Given the description of an element on the screen output the (x, y) to click on. 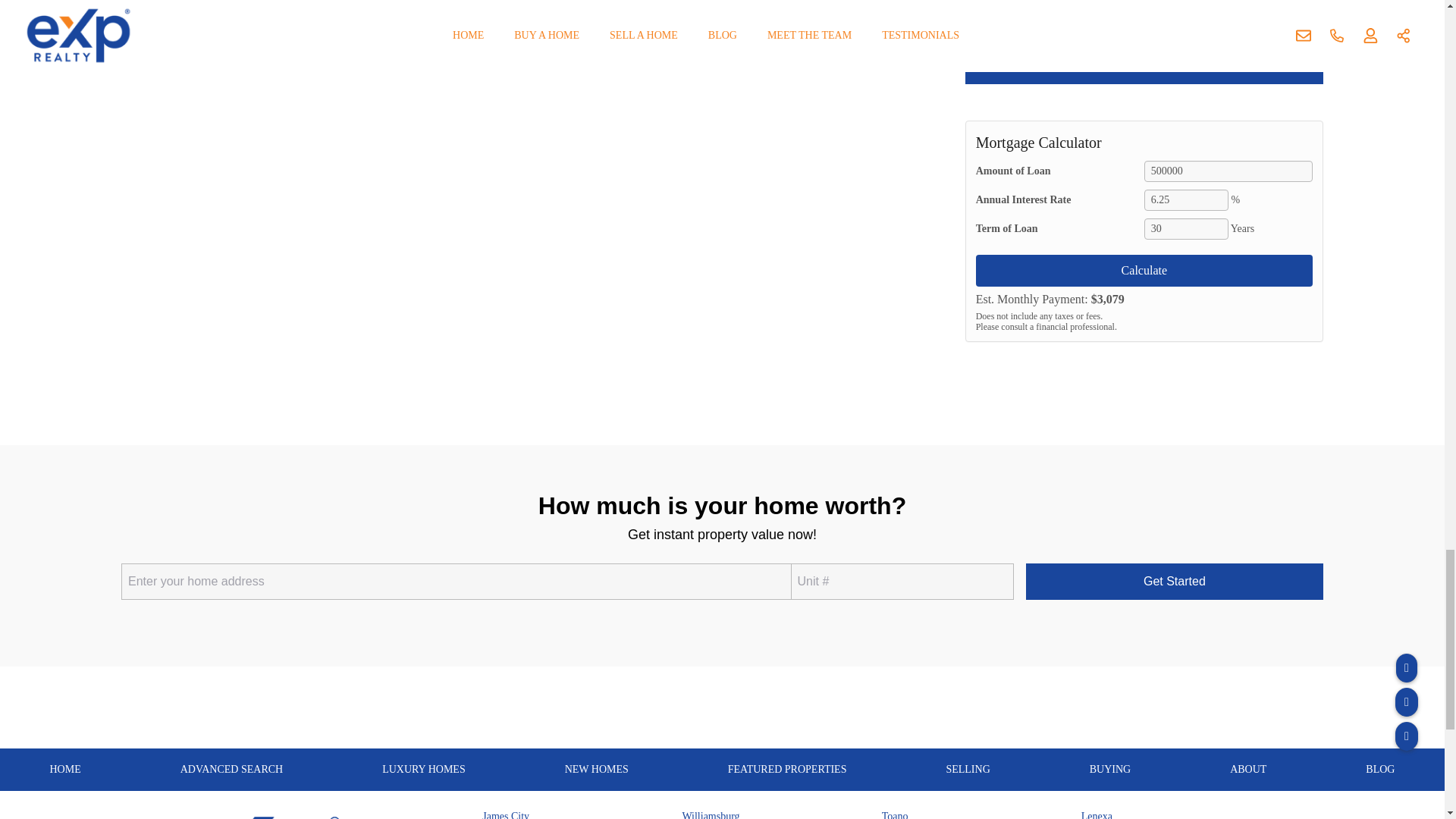
30 (1186, 228)
6.25 (1186, 199)
500000 (1228, 170)
